Given the description of an element on the screen output the (x, y) to click on. 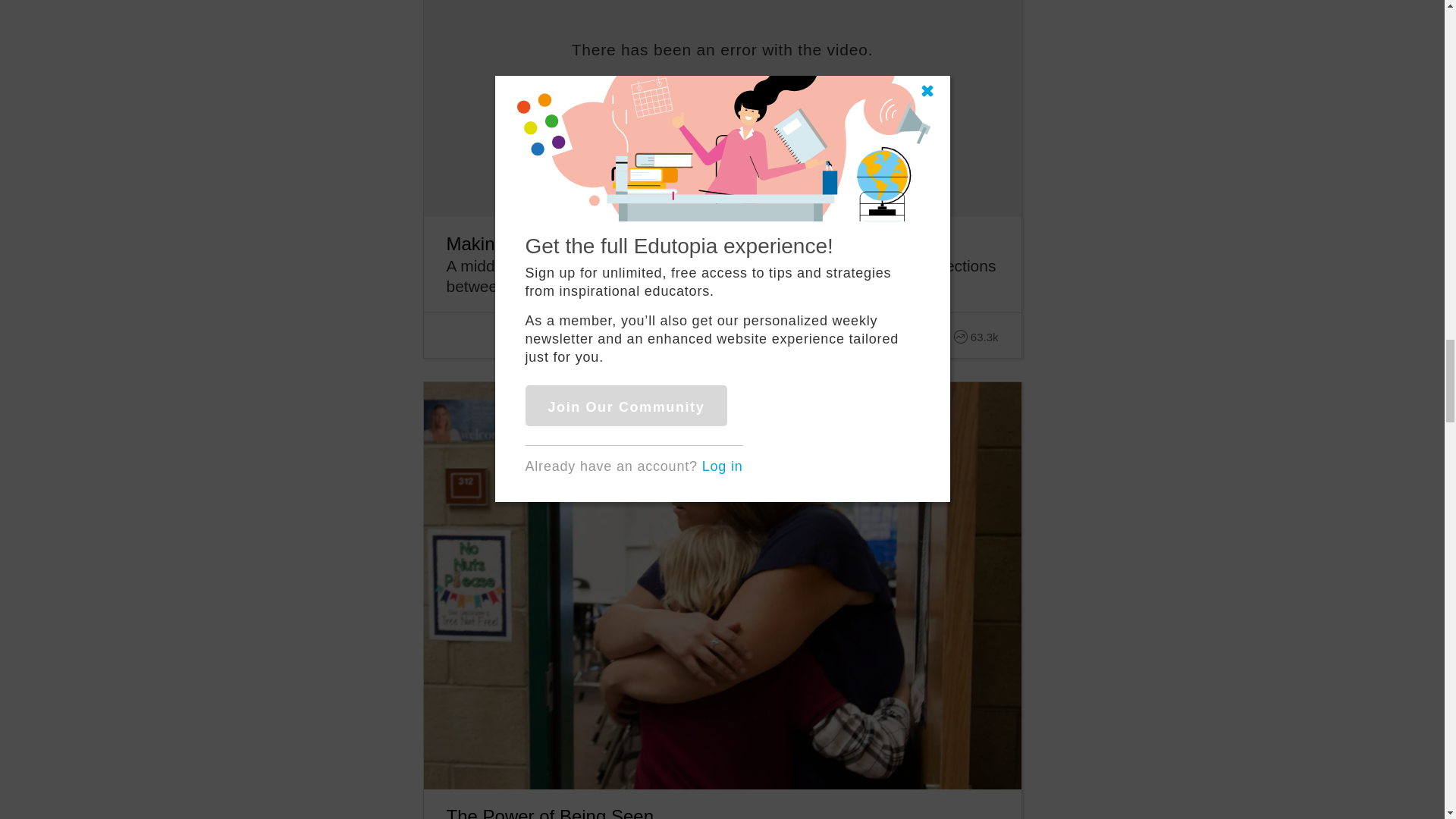
Making Sure Each Child Is Known (582, 243)
